Given the description of an element on the screen output the (x, y) to click on. 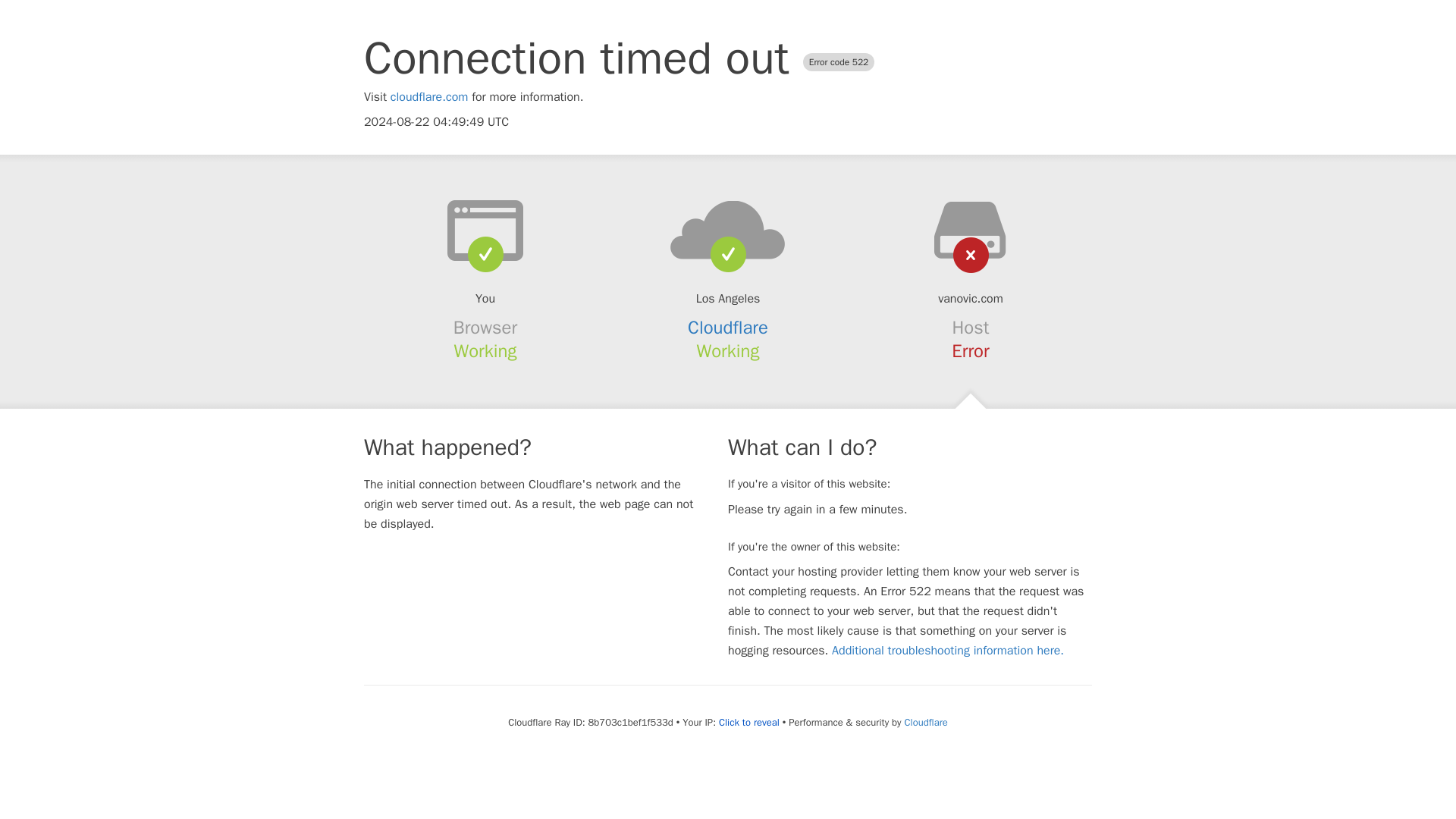
cloudflare.com (429, 96)
Click to reveal (748, 722)
Cloudflare (925, 721)
Additional troubleshooting information here. (947, 650)
Cloudflare (727, 327)
